Given the description of an element on the screen output the (x, y) to click on. 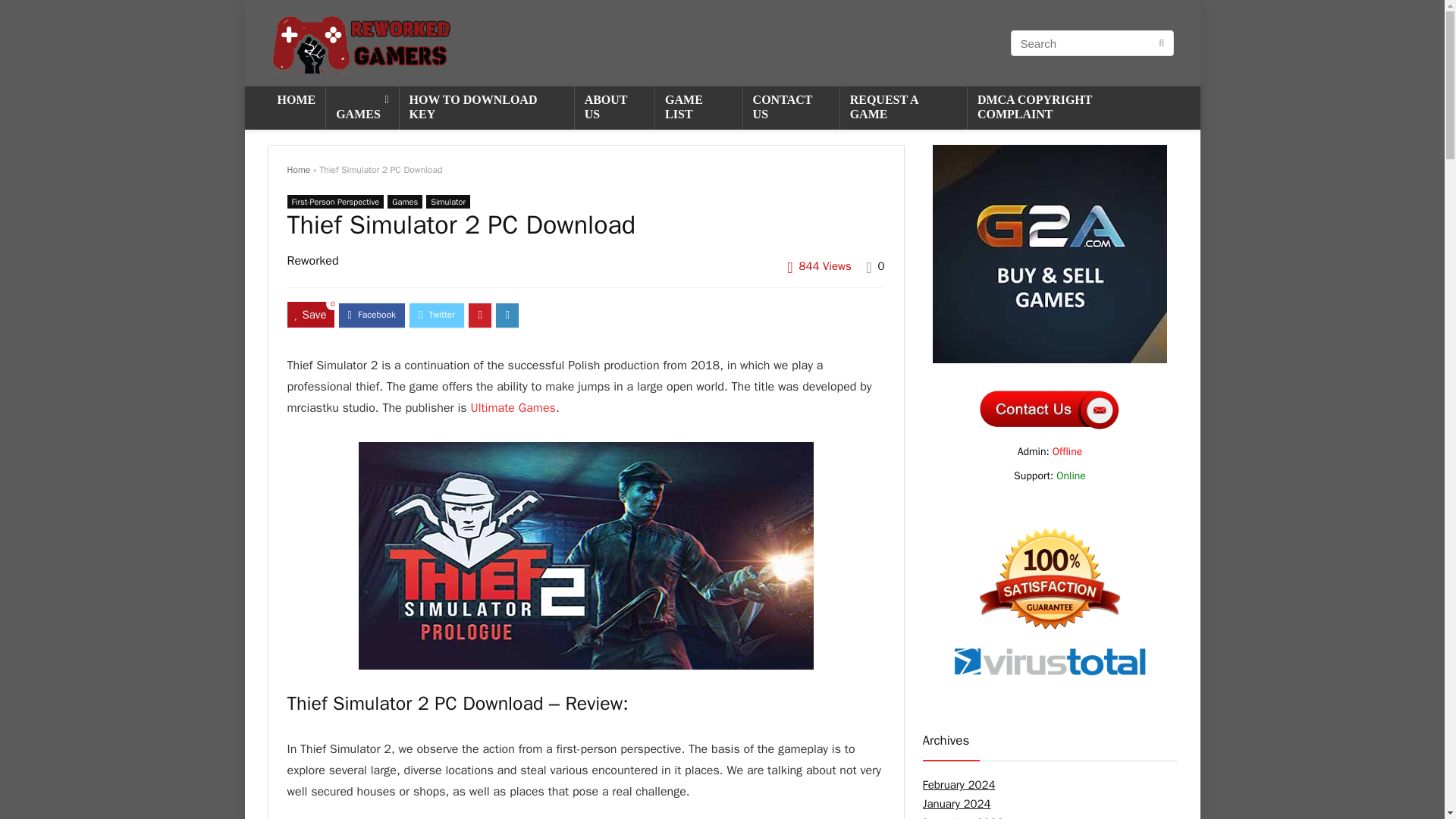
View all posts in Games (404, 201)
Reworked (311, 260)
View all posts in Simulator (448, 201)
ABOUT US (614, 107)
HOME (295, 100)
GAMES (361, 107)
REQUEST A GAME (903, 107)
GAME LIST (698, 107)
CONTACT US (791, 107)
Ultimate Games (512, 407)
